Given the description of an element on the screen output the (x, y) to click on. 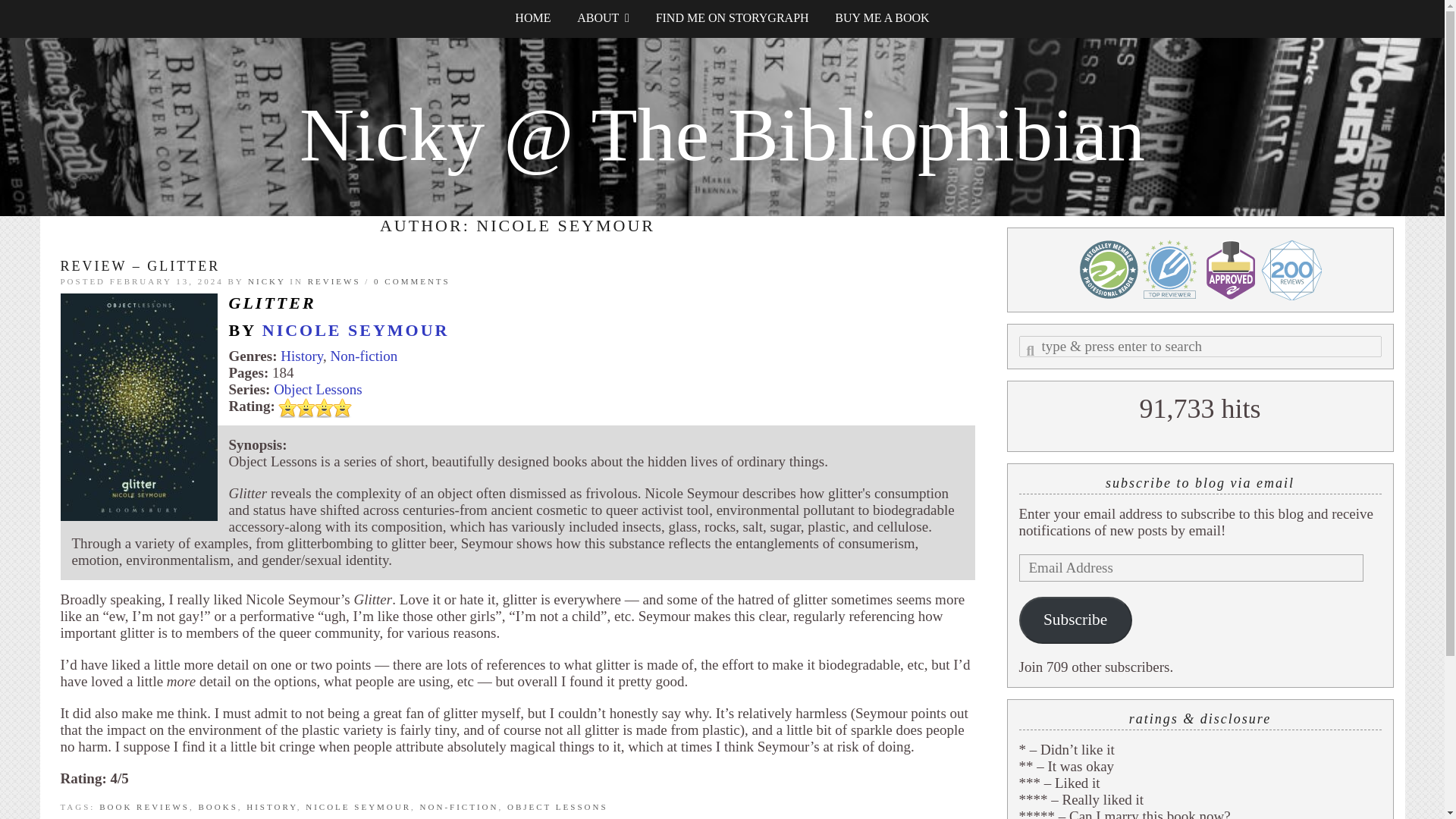
200 Book Reviews (1290, 269)
View all posts in Reviews (334, 280)
NICOLE SEYMOUR (355, 330)
Subscribe (1075, 620)
Frequently Auto-Approved (1229, 269)
Non-fiction (363, 355)
NICKY (266, 280)
OBJECT LESSONS (557, 806)
NON-FICTION (459, 806)
HOME (532, 18)
